Given the description of an element on the screen output the (x, y) to click on. 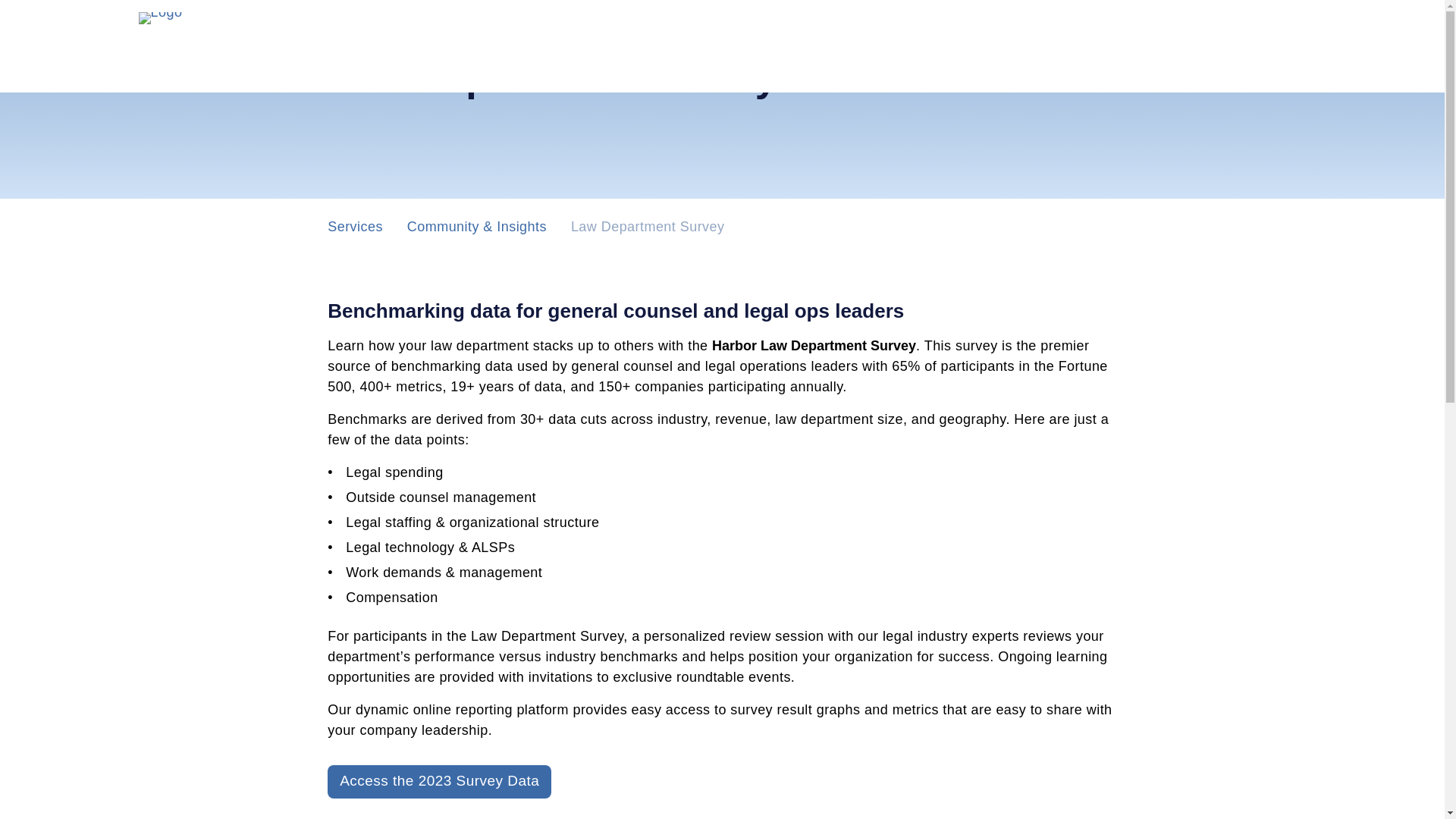
Services (354, 226)
Access the 2023 Survey Data (439, 781)
